Given the description of an element on the screen output the (x, y) to click on. 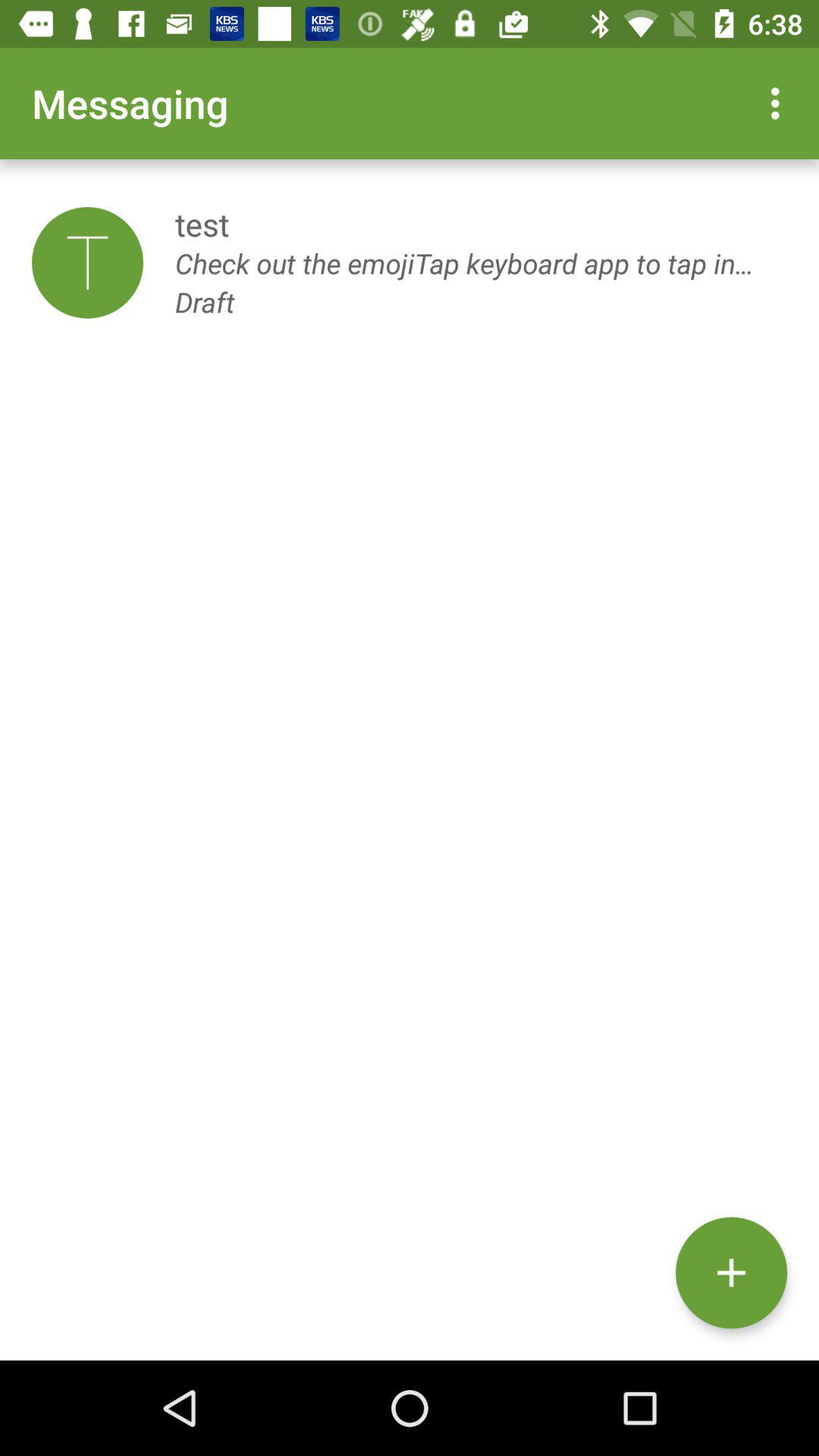
press the app next to the messaging (779, 103)
